Given the description of an element on the screen output the (x, y) to click on. 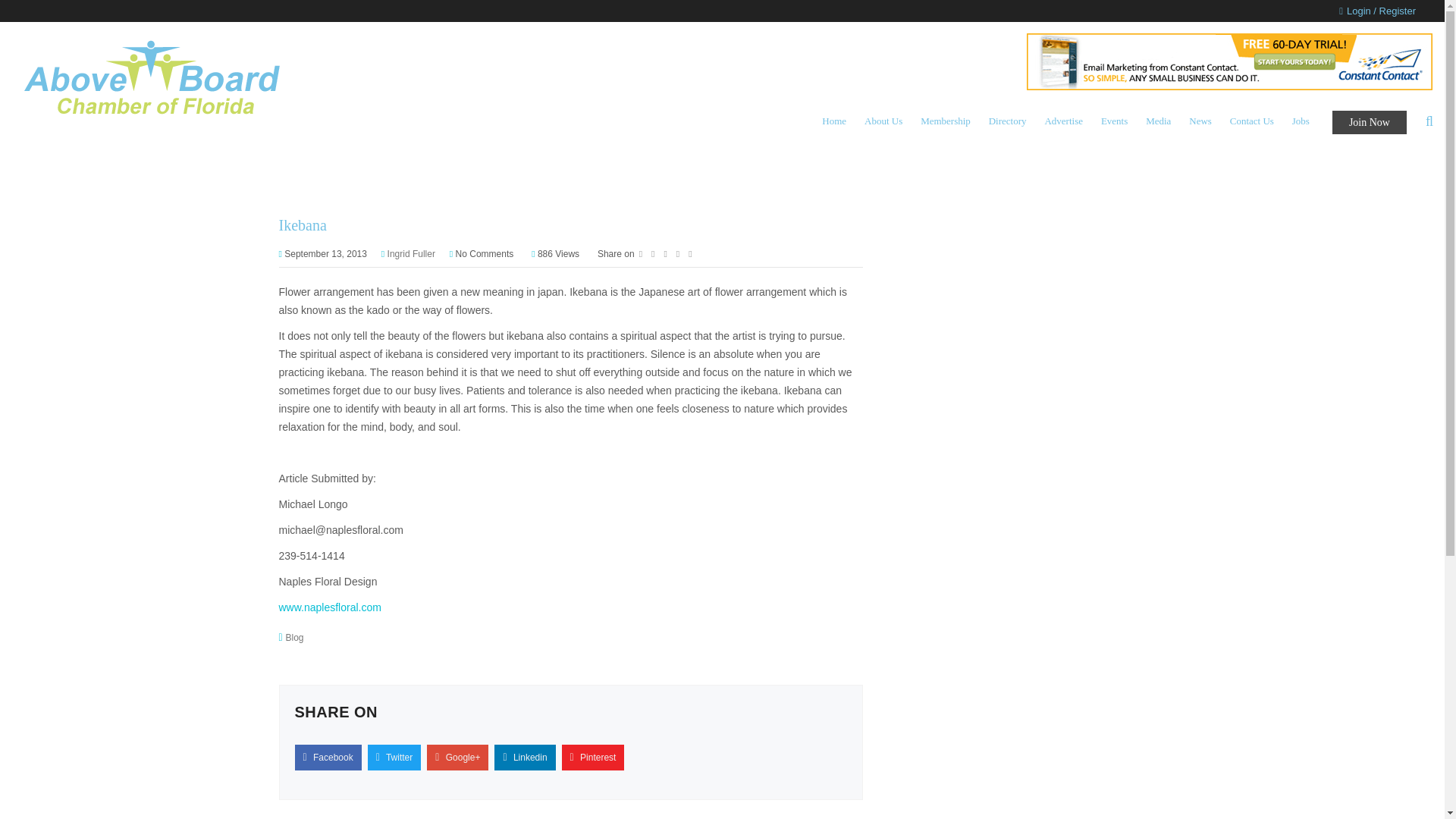
Above Board Chamber (152, 77)
Contact Us (1252, 120)
Membership (945, 120)
Join Now (1369, 122)
